Given the description of an element on the screen output the (x, y) to click on. 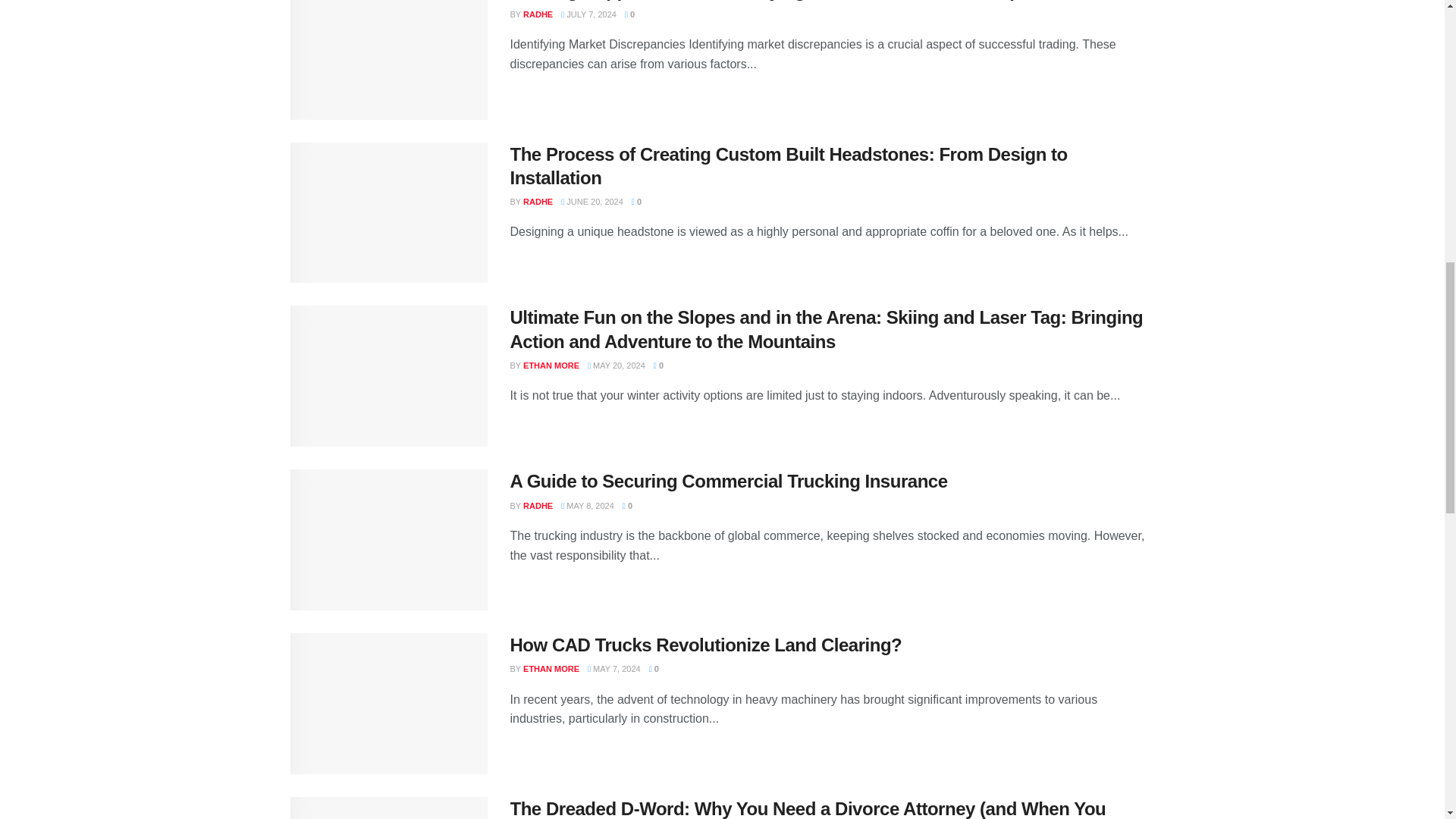
RADHE (537, 13)
JULY 7, 2024 (587, 13)
RADHE (537, 201)
0 (629, 13)
